Given the description of an element on the screen output the (x, y) to click on. 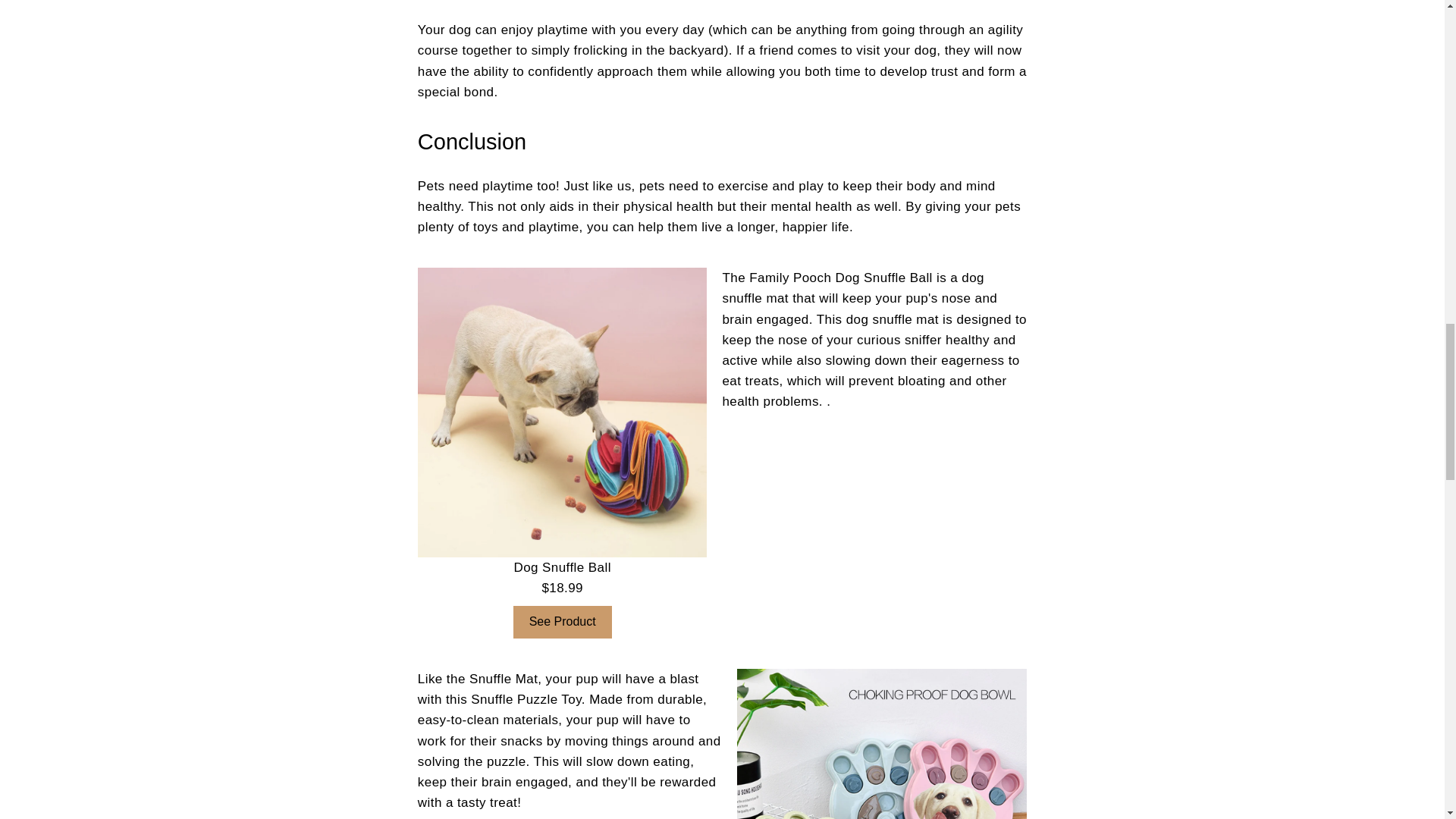
See Product (562, 622)
